Given the description of an element on the screen output the (x, y) to click on. 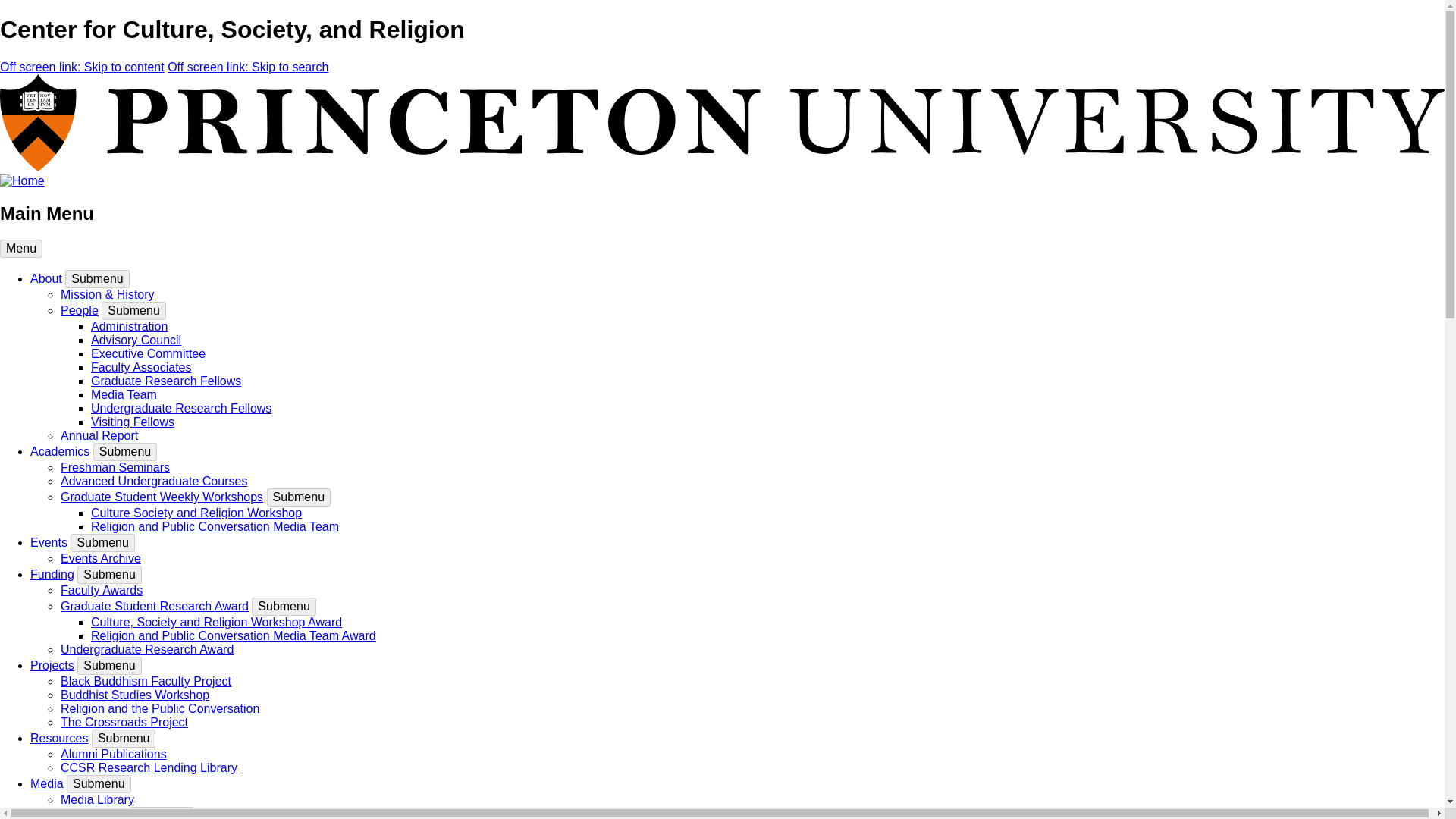
Faculty Awards (101, 590)
Funding (52, 574)
Off screen link: Skip to search (248, 66)
Submenu (102, 542)
Advisory Council (135, 339)
Visiting Fellows (132, 421)
Administration (128, 326)
Off screen link: Skip to content (82, 66)
Events (48, 542)
Academics (59, 451)
Freshman Seminars (115, 467)
Menu (21, 248)
Freshman Seminars funded by CCSR (115, 467)
Undergraduate Research Fellows (180, 408)
Submenu (109, 665)
